Given the description of an element on the screen output the (x, y) to click on. 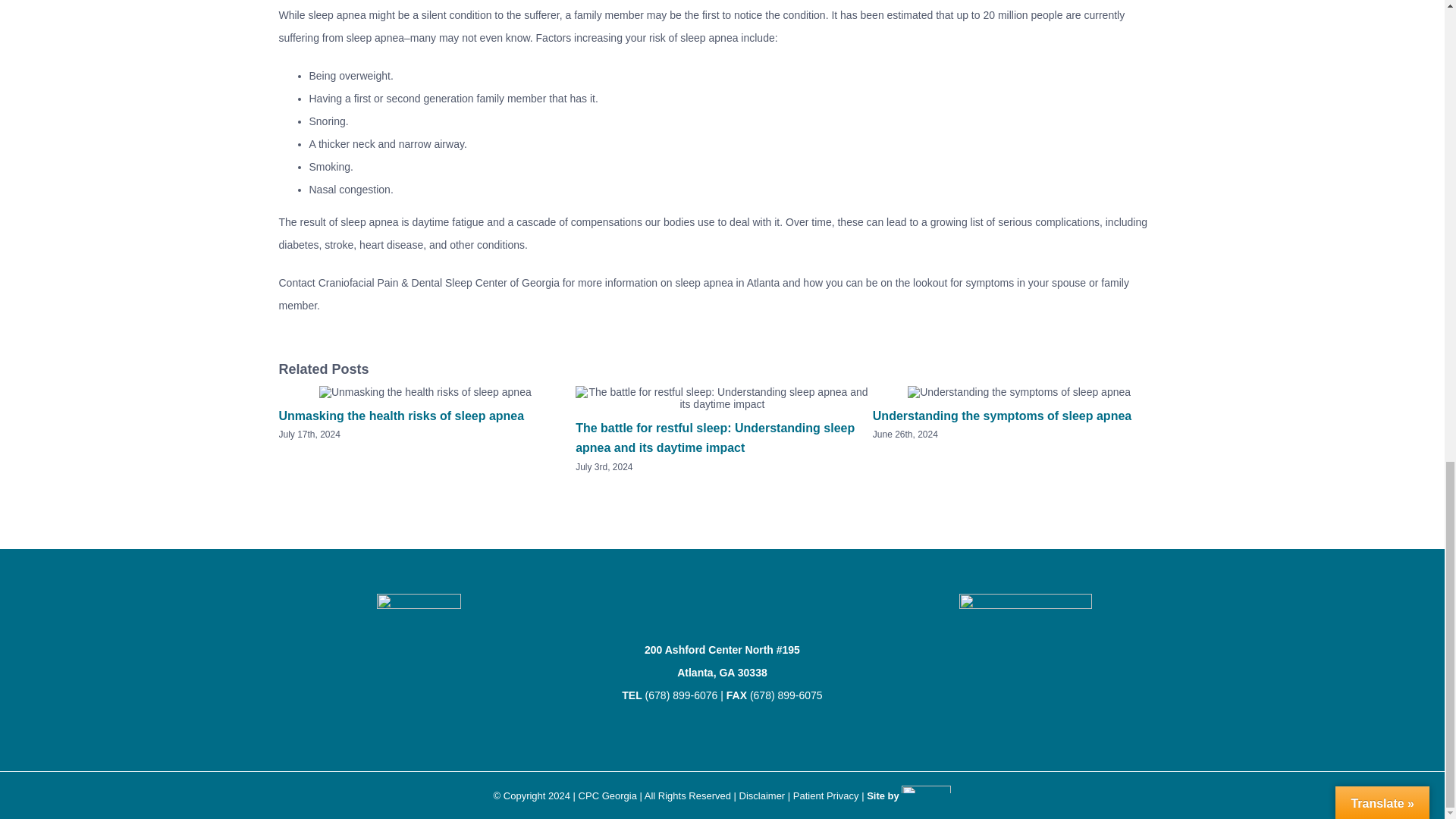
Understanding the symptoms of sleep apnea (1001, 415)
Unmasking the health risks of sleep apnea (401, 415)
